Given the description of an element on the screen output the (x, y) to click on. 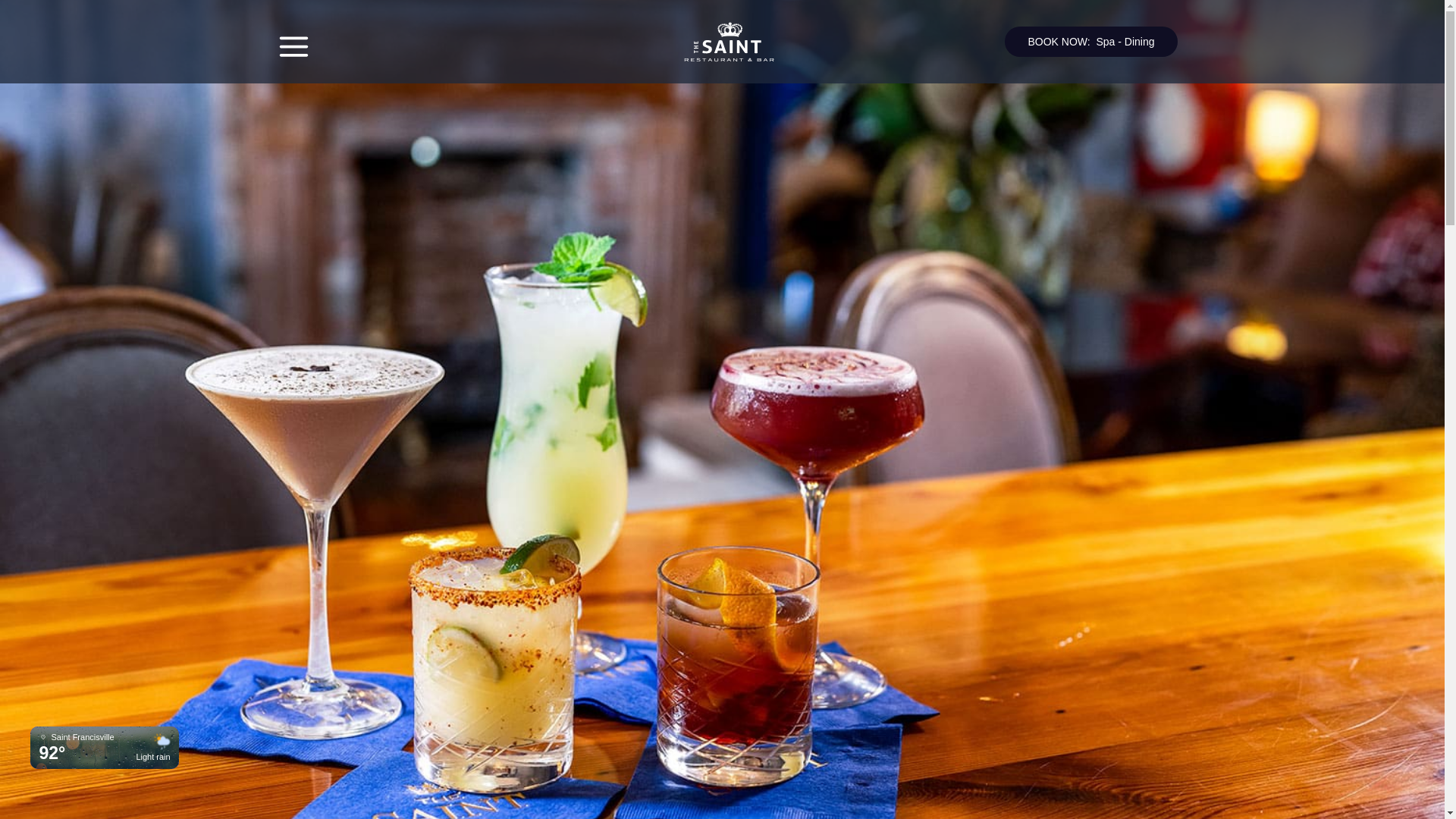
Dining (1139, 41)
Main Menu (292, 46)
Spa (1105, 41)
